Given the description of an element on the screen output the (x, y) to click on. 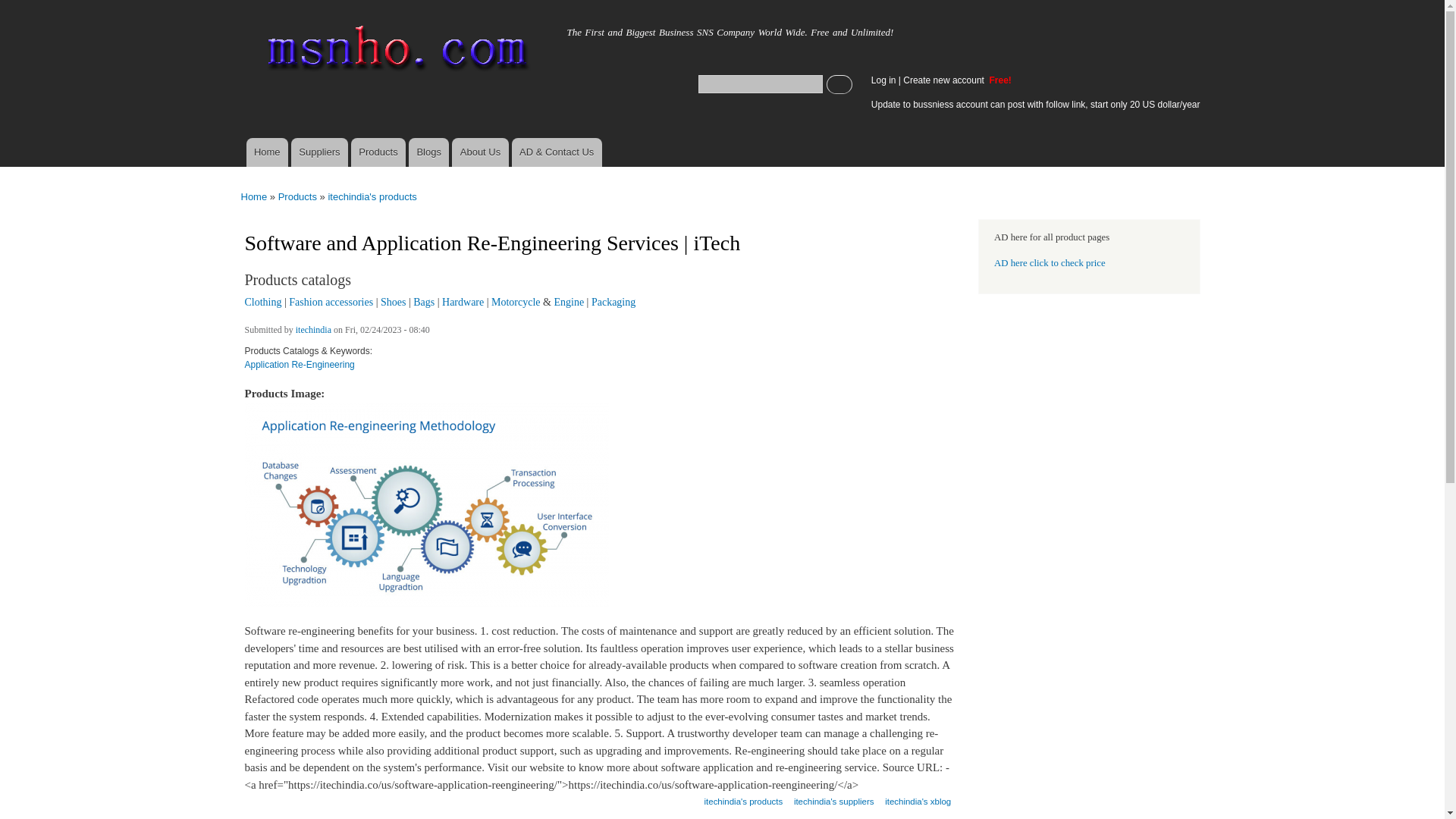
Motorcycle (516, 301)
About us (479, 152)
itechindia's products (371, 196)
Home (282, 28)
AD here click to check price (1049, 262)
Suppliers (319, 152)
Packaging (612, 301)
Engine (568, 301)
Application Re-Engineering (298, 369)
Home (266, 152)
msnho.com (282, 28)
Search (839, 83)
Blogs (428, 152)
Hardware (462, 301)
Skip to main content (690, 1)
